Given the description of an element on the screen output the (x, y) to click on. 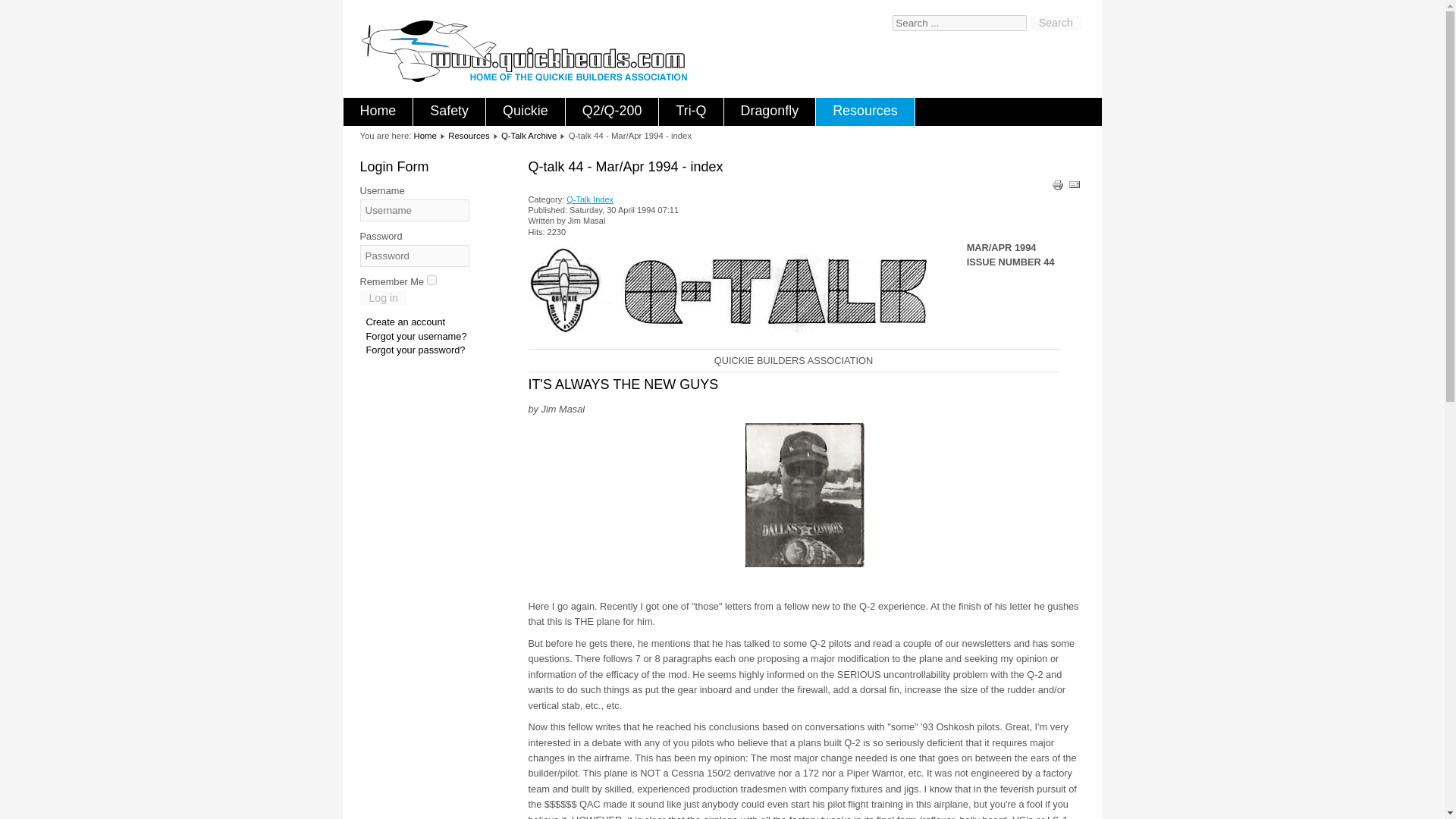
Forgot your password? (414, 349)
Home (377, 111)
Create an account (405, 321)
Q-Talk Archive (528, 135)
Resources (468, 135)
Email this link to a friend (1073, 187)
Home (424, 135)
Resources (864, 111)
Forgot your username? (415, 336)
yes (431, 280)
Quickie (525, 111)
Log in (382, 298)
Dragonfly (769, 111)
Safety (448, 111)
Tri-Q (690, 111)
